Given the description of an element on the screen output the (x, y) to click on. 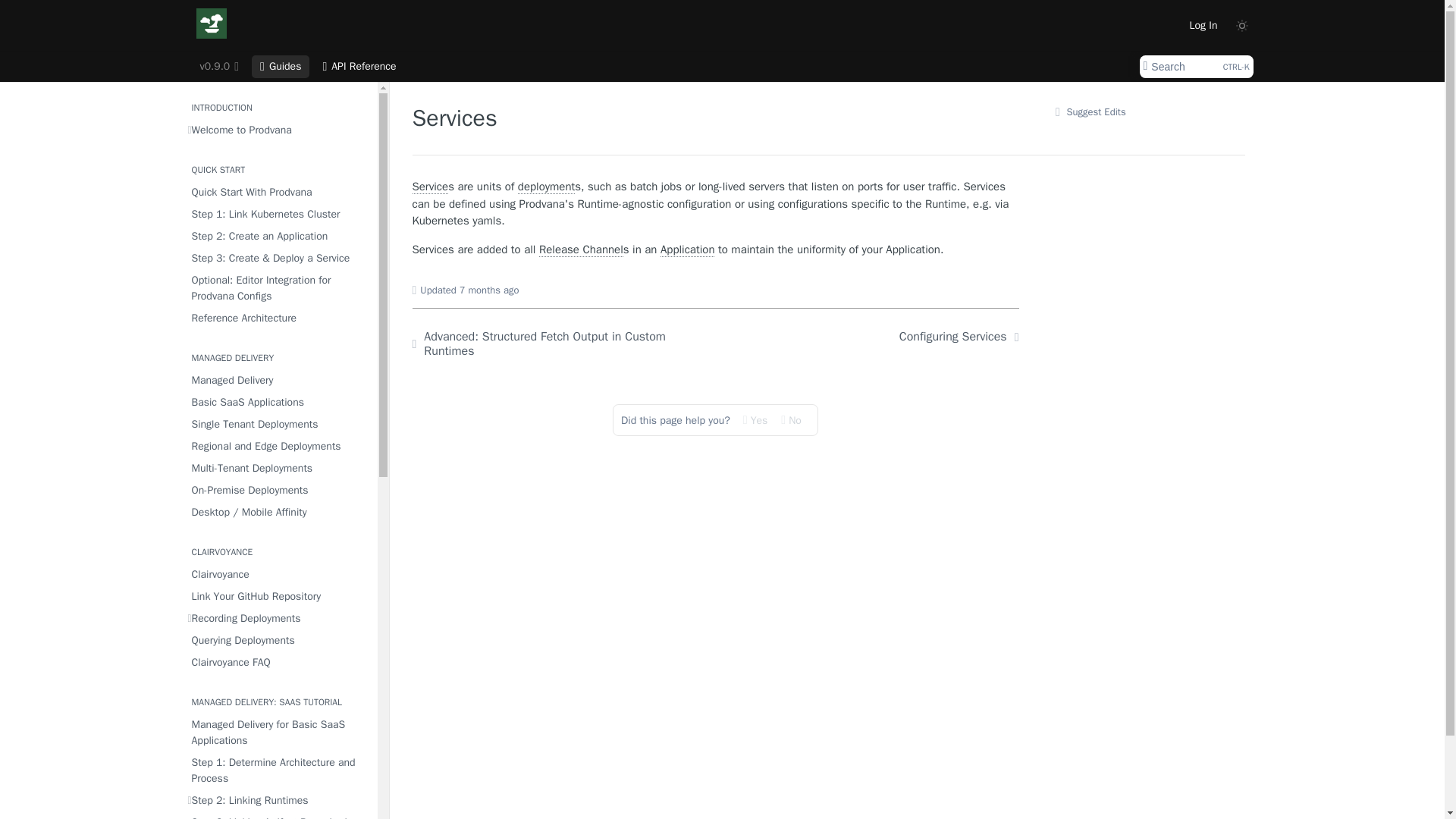
Multi-Tenant Deployments (277, 467)
Regional and Edge Deployments (277, 445)
API Reference (359, 66)
Welcome to Prodvana (277, 129)
Basic SaaS Applications (277, 402)
Managed Delivery (277, 380)
Link Your GitHub Repository (277, 596)
Quick Start With Prodvana (1195, 66)
v0.9.0 (277, 191)
Clairvoyance (218, 66)
Recording Deployments (277, 574)
Step 2: Create an Application (277, 618)
Guides (277, 236)
Step 1: Link Kubernetes Cluster (279, 66)
